Given the description of an element on the screen output the (x, y) to click on. 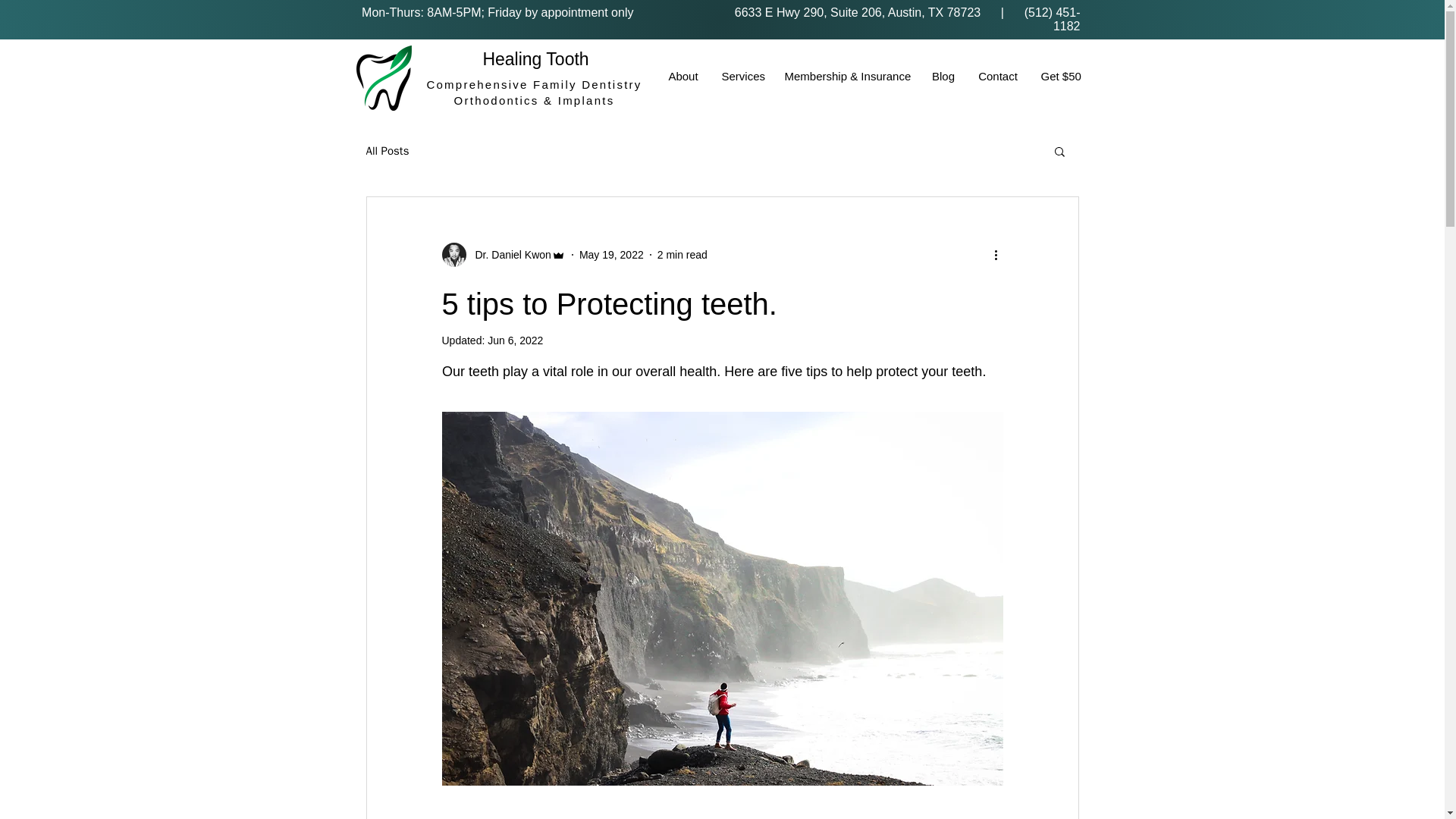
Dr. Daniel Kwon (507, 254)
Dr. Daniel Kwon (502, 254)
All Posts (387, 151)
May 19, 2022 (611, 254)
Healing Tooth (534, 58)
Services (741, 76)
Blog (943, 76)
Contact (997, 76)
Jun 6, 2022 (515, 340)
Comprehensive Family Dentistry (534, 83)
